Given the description of an element on the screen output the (x, y) to click on. 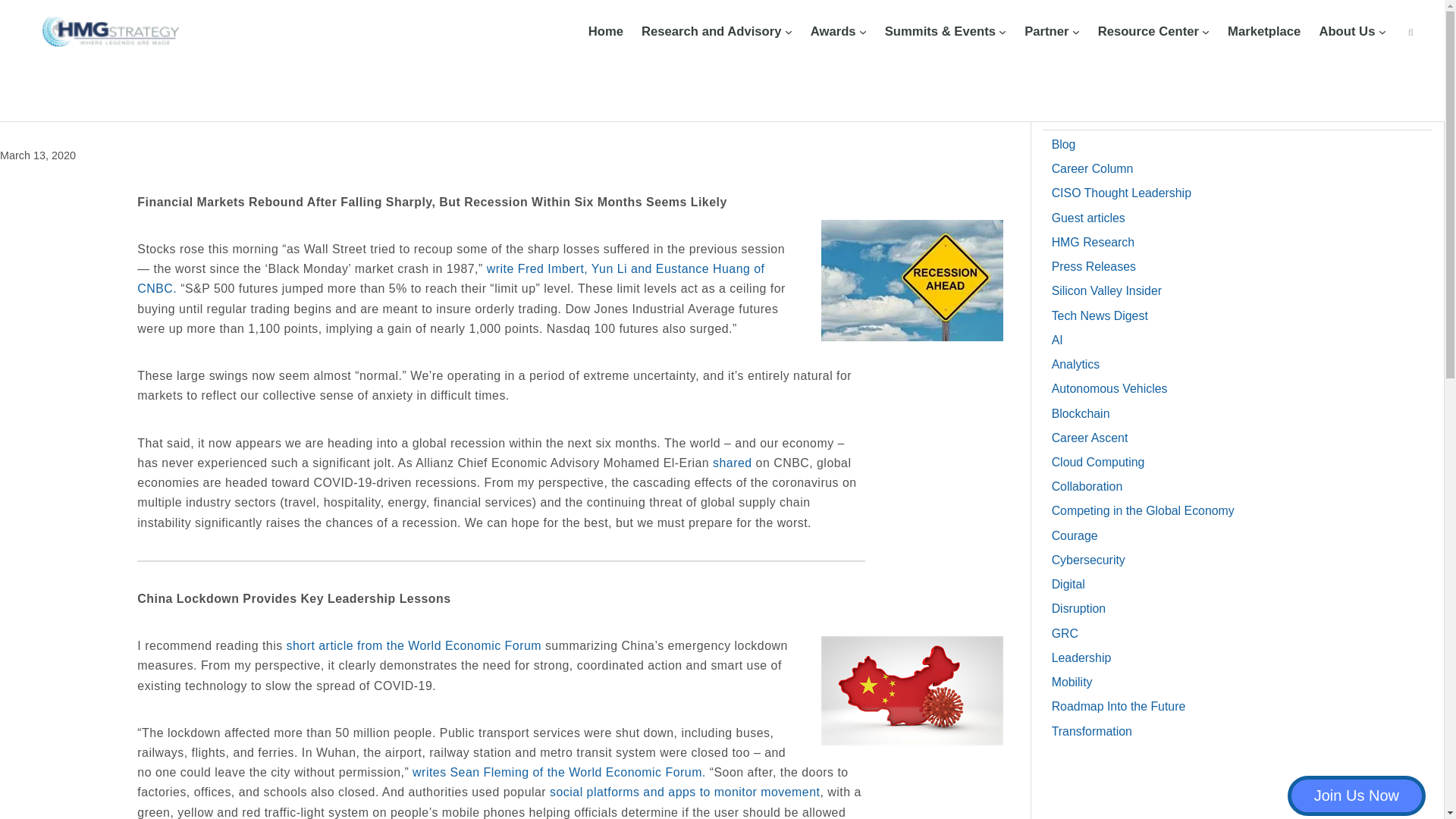
Partner (1046, 31)
Awards (833, 31)
Research and Advisory (711, 31)
Home (605, 31)
Resource Center (1147, 31)
